Given the description of an element on the screen output the (x, y) to click on. 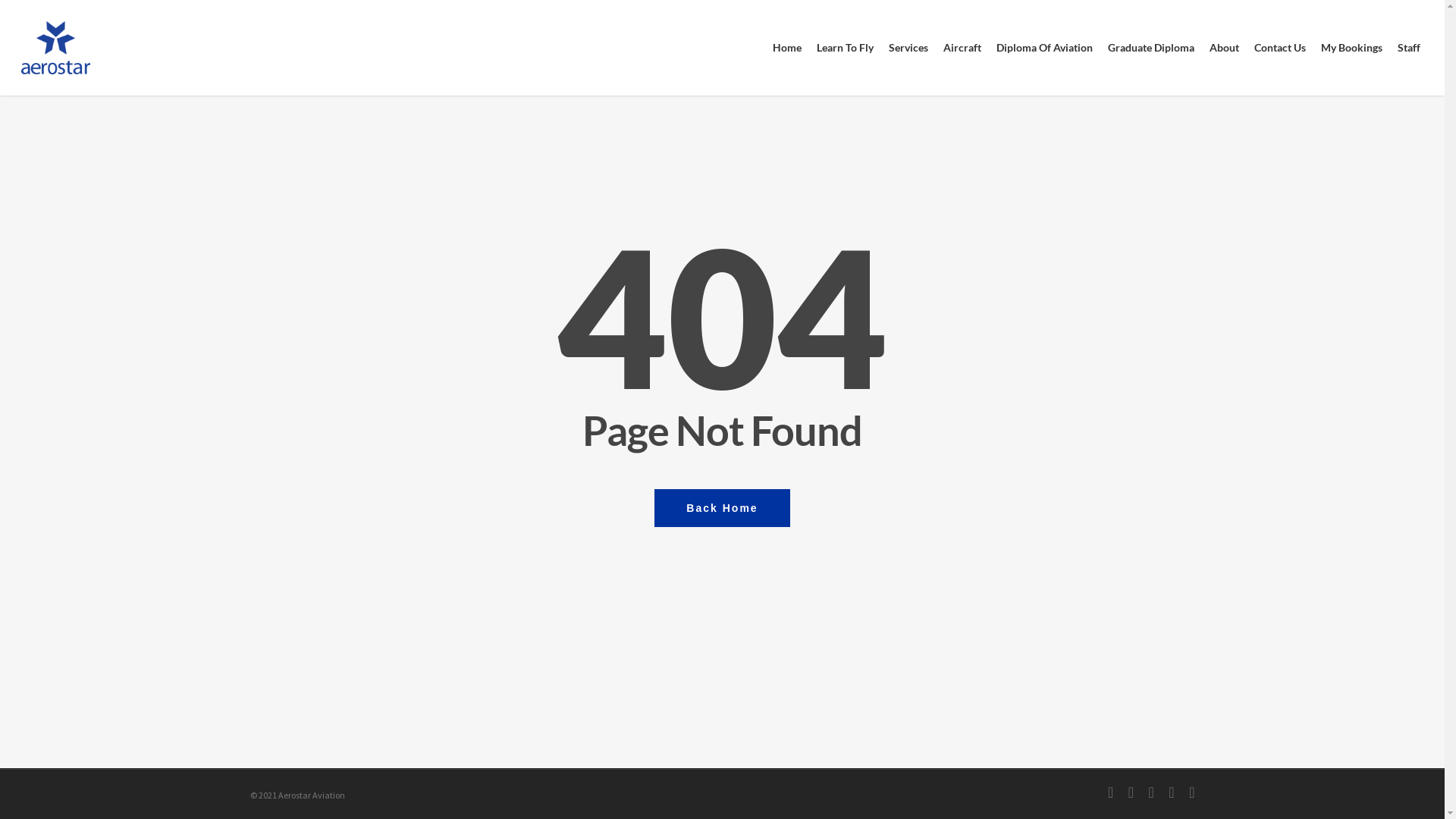
About Element type: text (1223, 47)
Home Element type: text (787, 47)
Staff Element type: text (1408, 47)
Diploma Of Aviation Element type: text (1044, 47)
Back Home Element type: text (721, 507)
Graduate Diploma Element type: text (1150, 47)
Contact Us Element type: text (1279, 47)
Learn To Fly Element type: text (845, 47)
Aircraft Element type: text (961, 47)
Services Element type: text (908, 47)
My Bookings Element type: text (1351, 47)
